Given the description of an element on the screen output the (x, y) to click on. 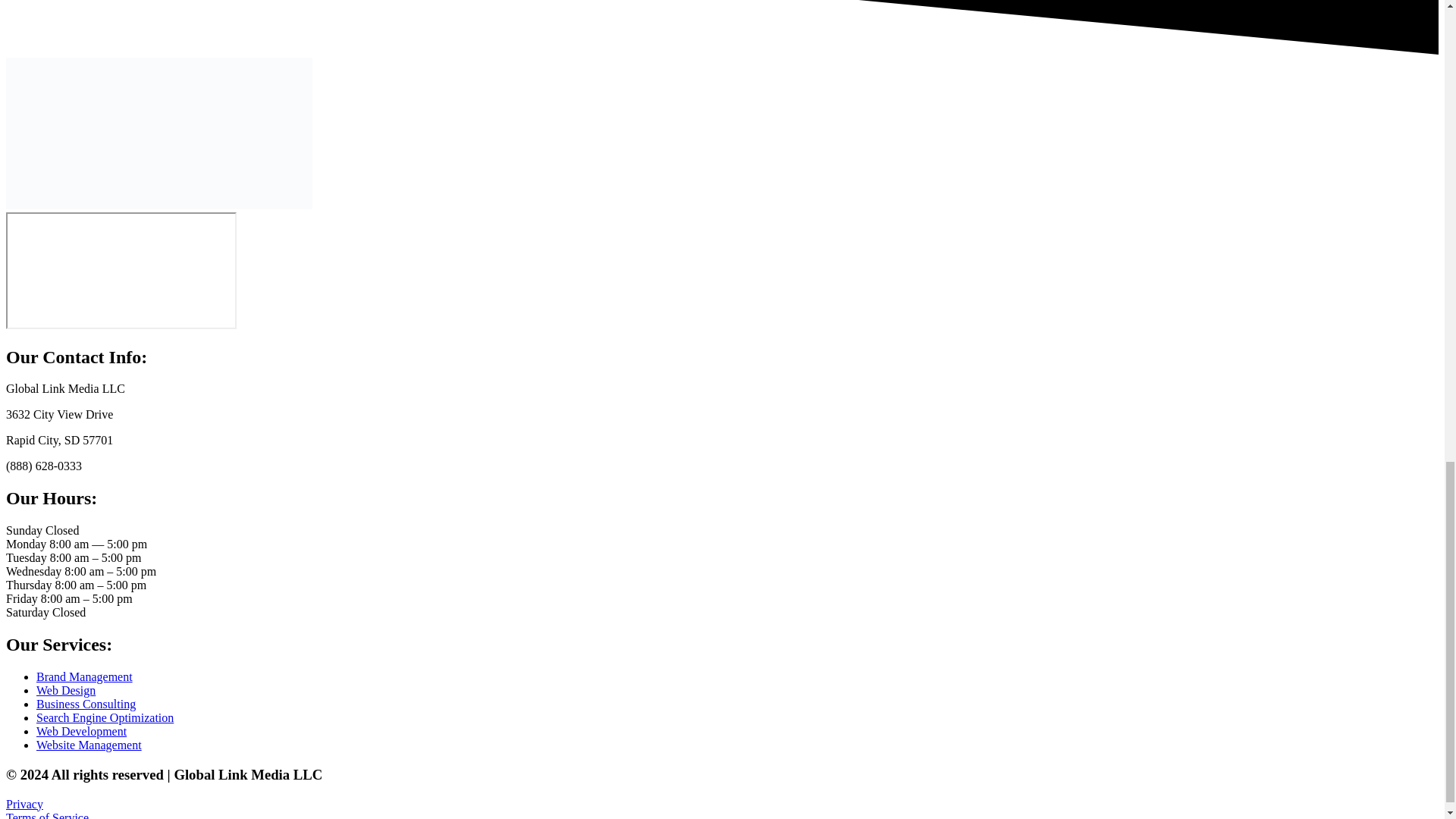
Search Engine Optimization (104, 717)
Brand Management (84, 676)
Web Design (66, 689)
Privacy (24, 803)
Business Consulting (85, 703)
Web Development (81, 730)
GLOBAL LINK MEDIA (120, 270)
Website Management (88, 744)
